Given the description of an element on the screen output the (x, y) to click on. 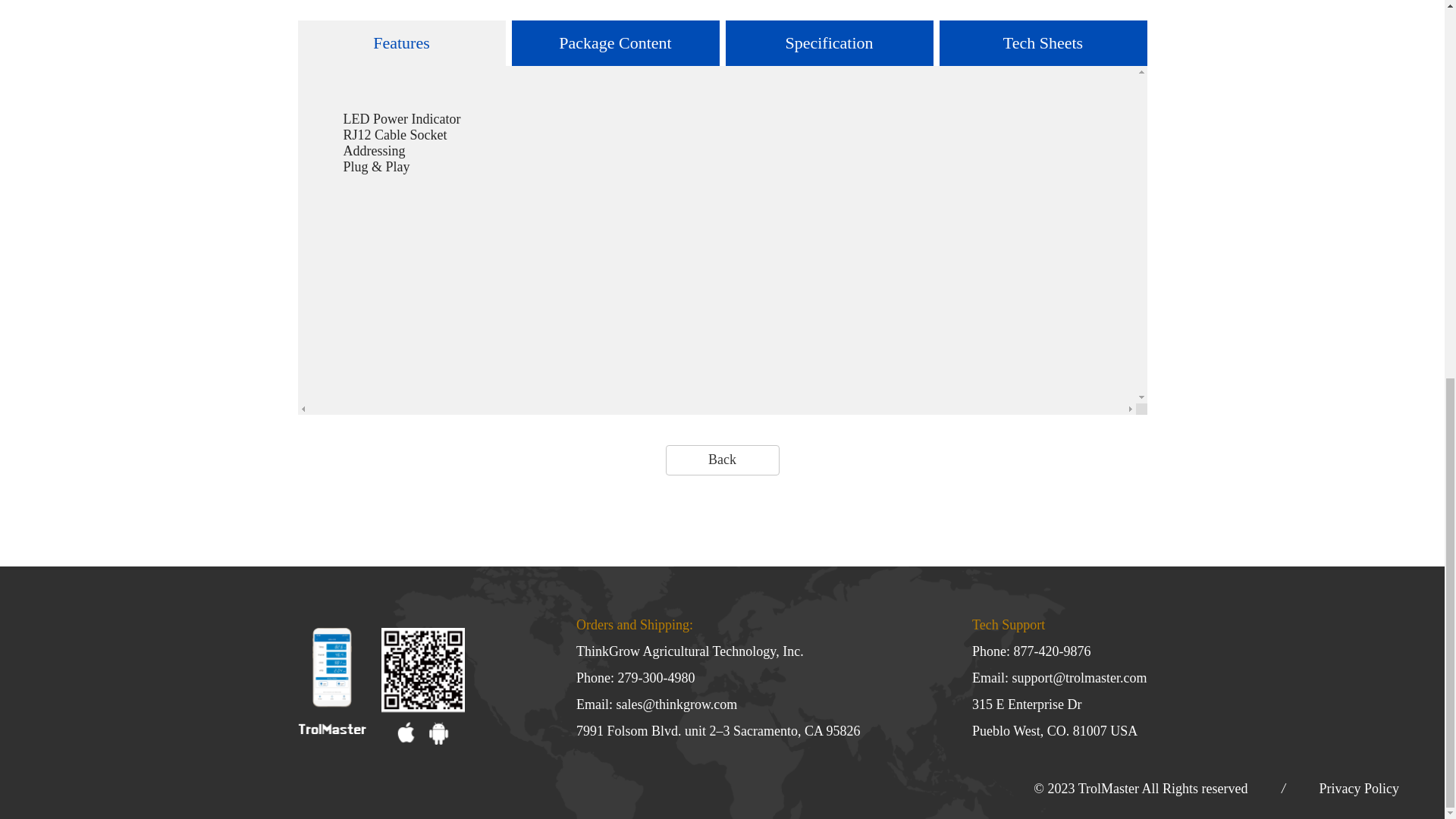
Back (721, 460)
Privacy Policy (1359, 788)
